Given the description of an element on the screen output the (x, y) to click on. 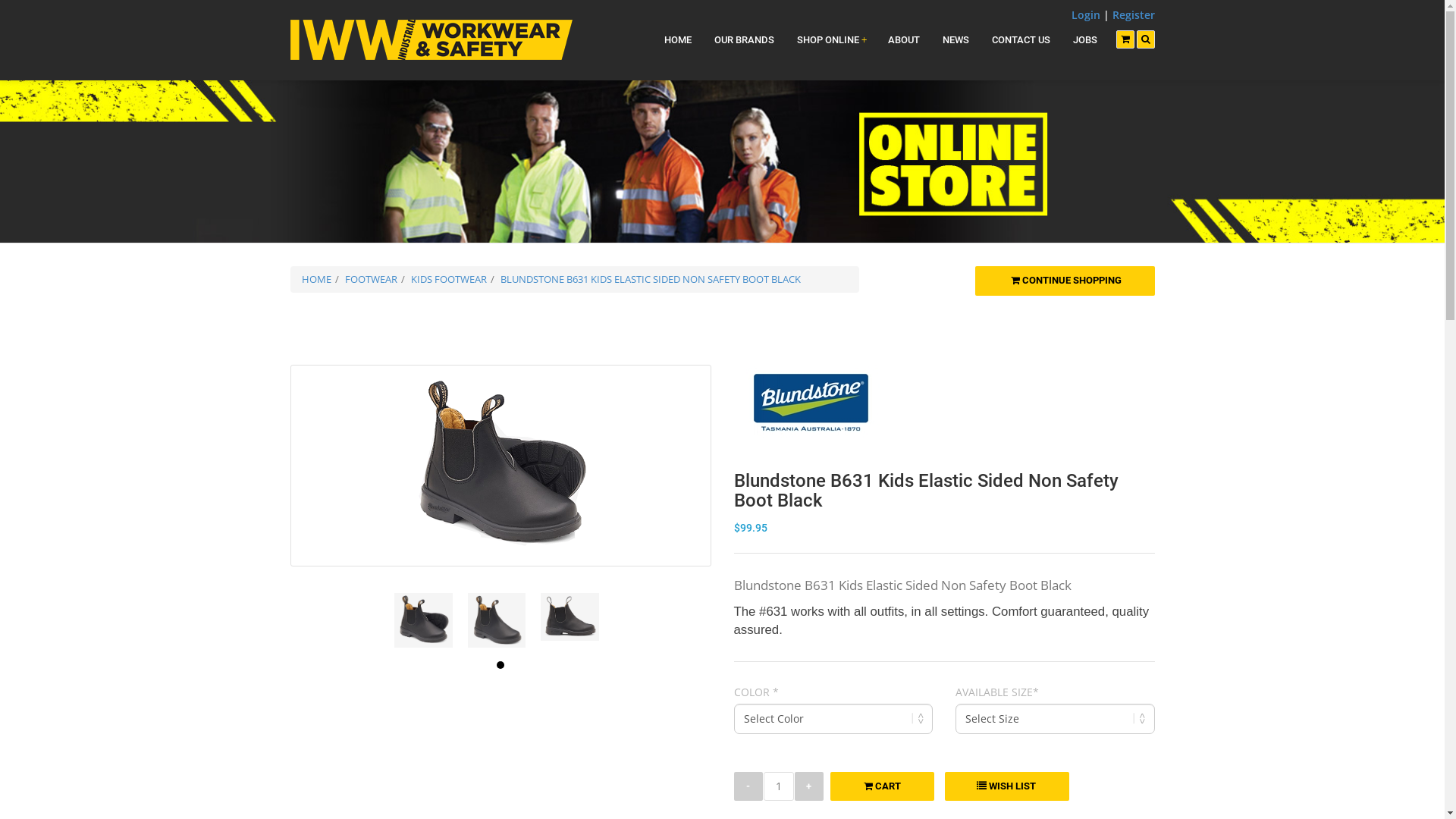
BLUNDSTONE B631 KIDS ELASTIC SIDED NON SAFETY BOOT BLACK Element type: text (650, 278)
CART Element type: text (881, 786)
SHOP ONLINE Element type: text (830, 39)
ABOUT Element type: text (903, 39)
CONTACT US Element type: text (1019, 39)
JOBS Element type: text (1084, 39)
Login Element type: text (1084, 14)
Register Element type: text (1132, 14)
OUR BRANDS Element type: text (743, 39)
  CONTINUE SHOPPING Element type: text (1064, 280)
- Element type: text (748, 785)
NEWS Element type: text (955, 39)
HOME Element type: text (677, 39)
1 Element type: text (500, 664)
HOME Element type: text (316, 278)
+ Element type: text (808, 785)
FOOTWEAR Element type: text (370, 278)
WISH LIST Element type: text (1006, 786)
KIDS FOOTWEAR Element type: text (448, 278)
